Given the description of an element on the screen output the (x, y) to click on. 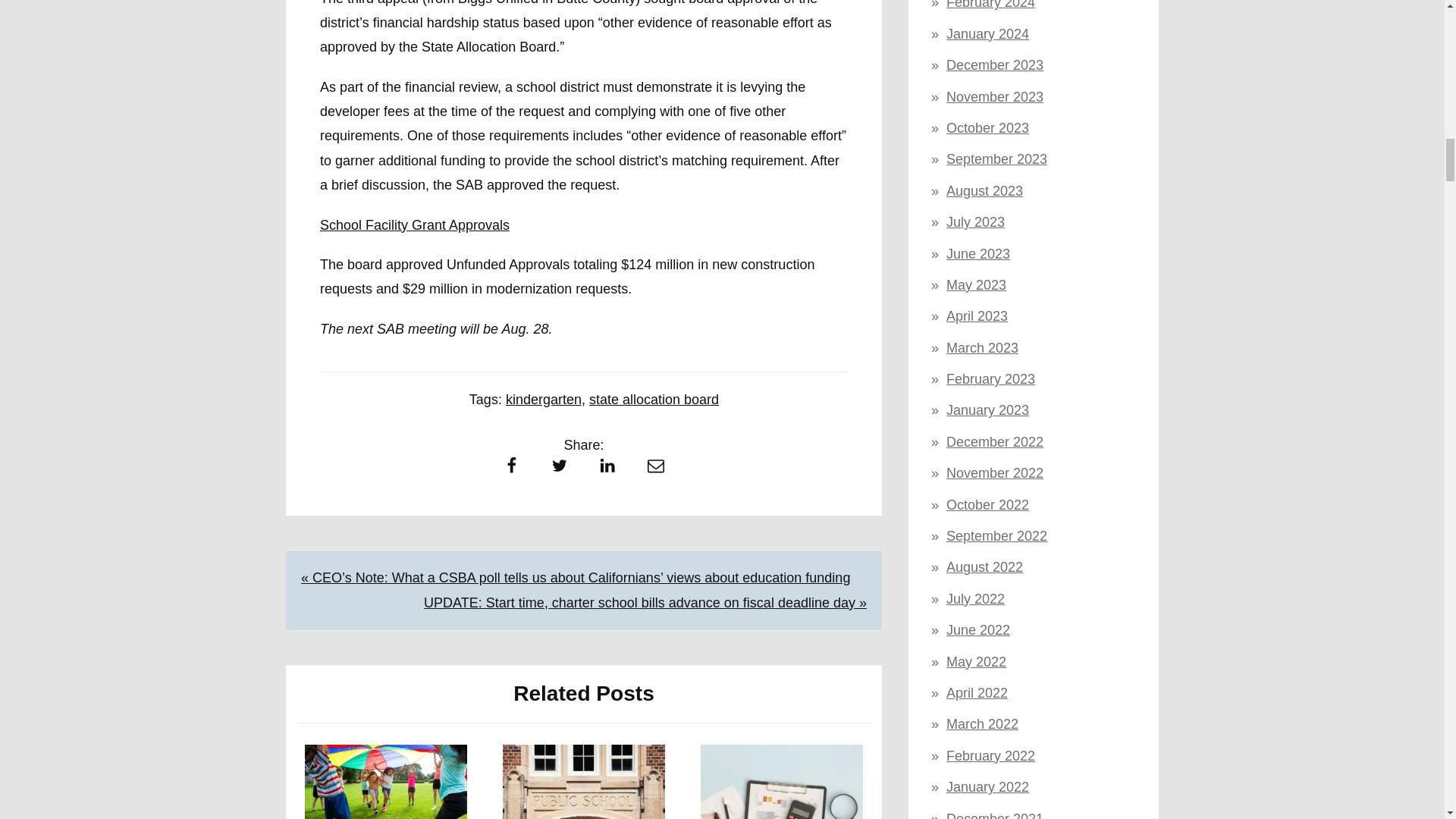
state allocation board (654, 399)
LinkedIn (606, 468)
Twitter (558, 468)
Facebook (511, 468)
Email (655, 468)
kindergarten (542, 399)
